Given the description of an element on the screen output the (x, y) to click on. 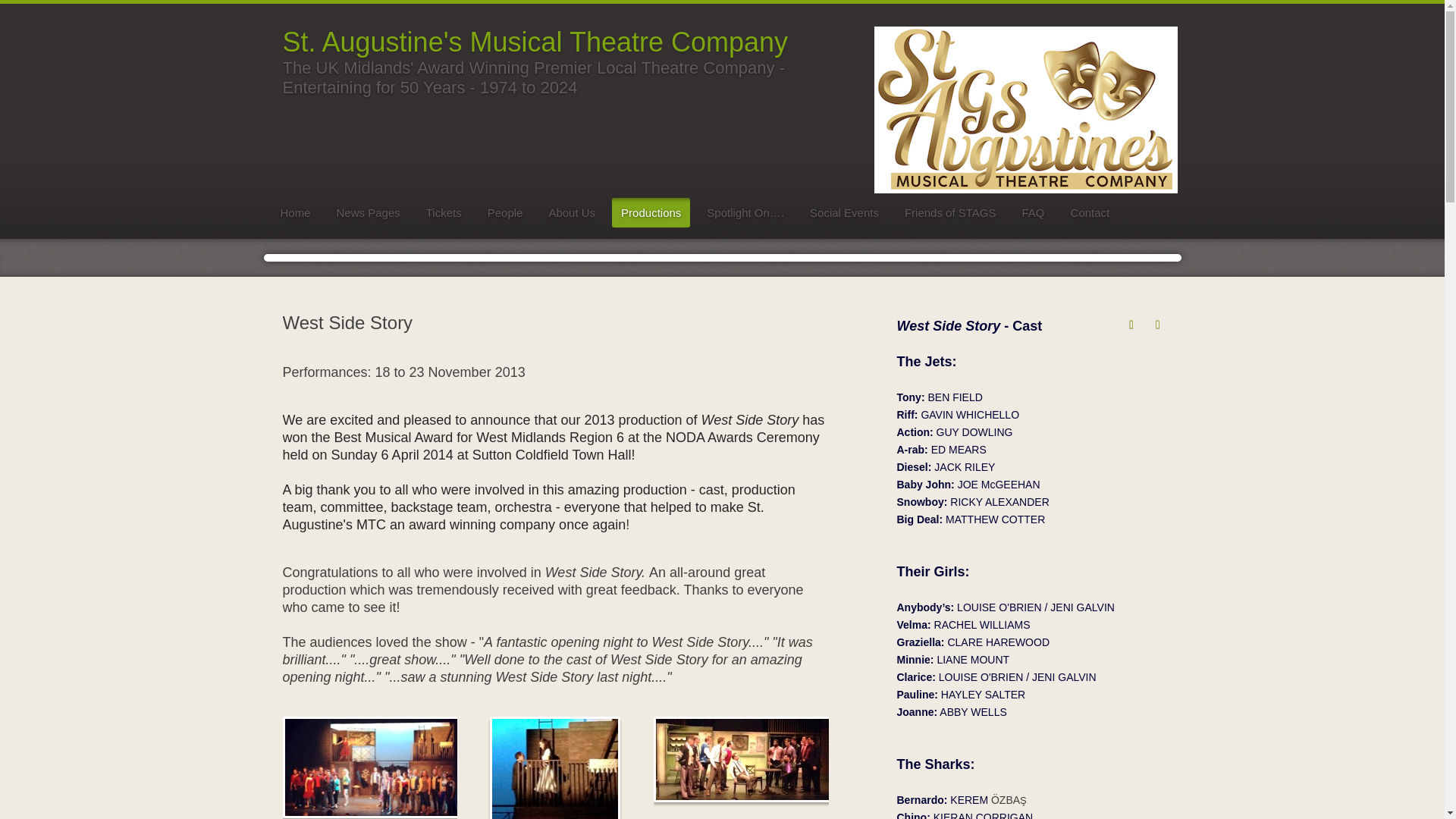
Contact (1090, 212)
News Pages (368, 212)
Home (295, 212)
Social Events (844, 212)
St. Augustine's Musical Theatre Company (534, 41)
Friends of STAGS (950, 212)
About Us (571, 212)
Productions (650, 212)
People (505, 212)
Tickets (443, 212)
FAQ (1033, 212)
